Given the description of an element on the screen output the (x, y) to click on. 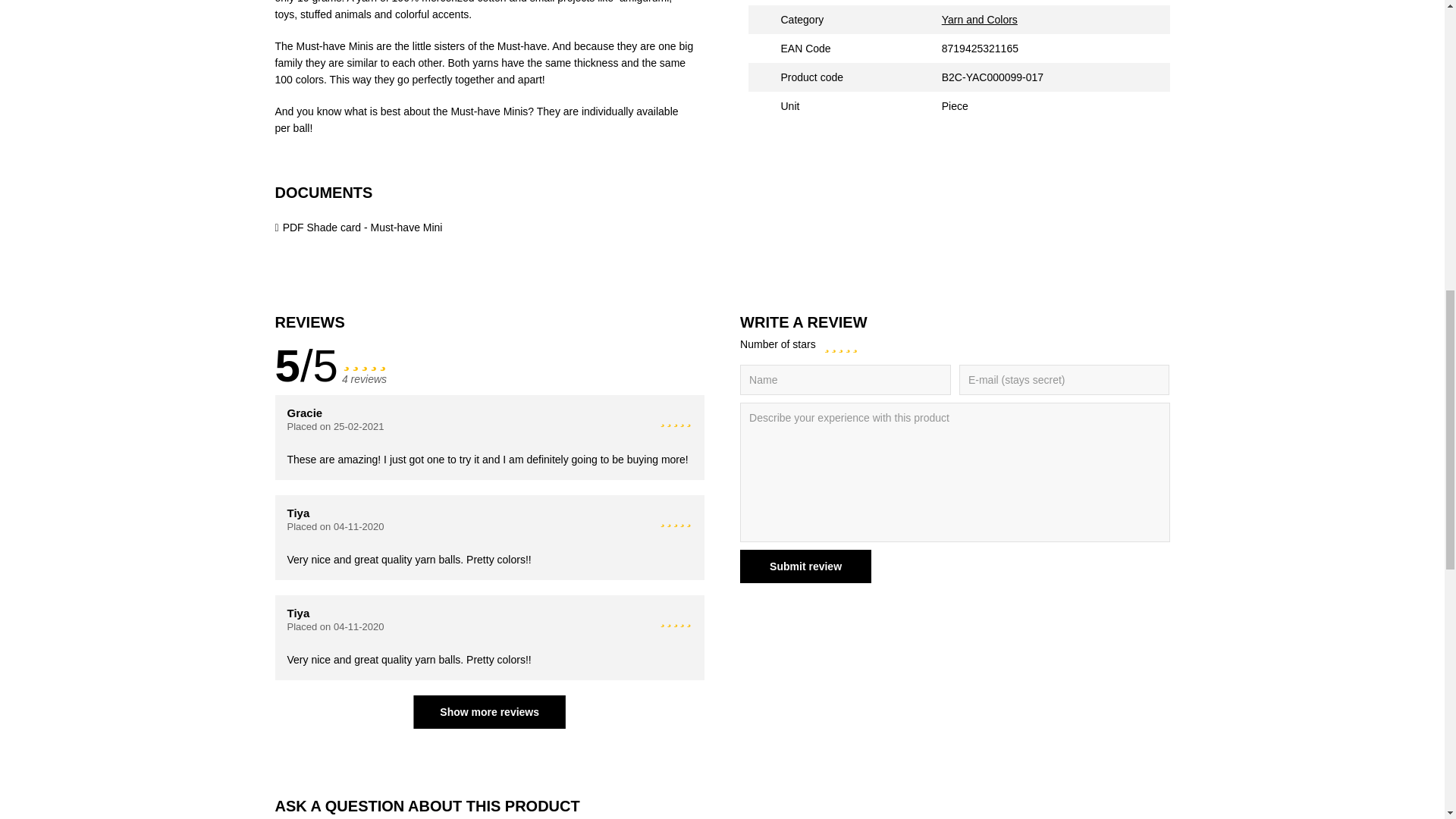
Yarn and Colors (979, 19)
Submit review (804, 566)
PDF Shade card - Must-have Mini (358, 227)
PDF Shade card - Must-have Mini (358, 227)
Yarn and Colors (979, 19)
